Given the description of an element on the screen output the (x, y) to click on. 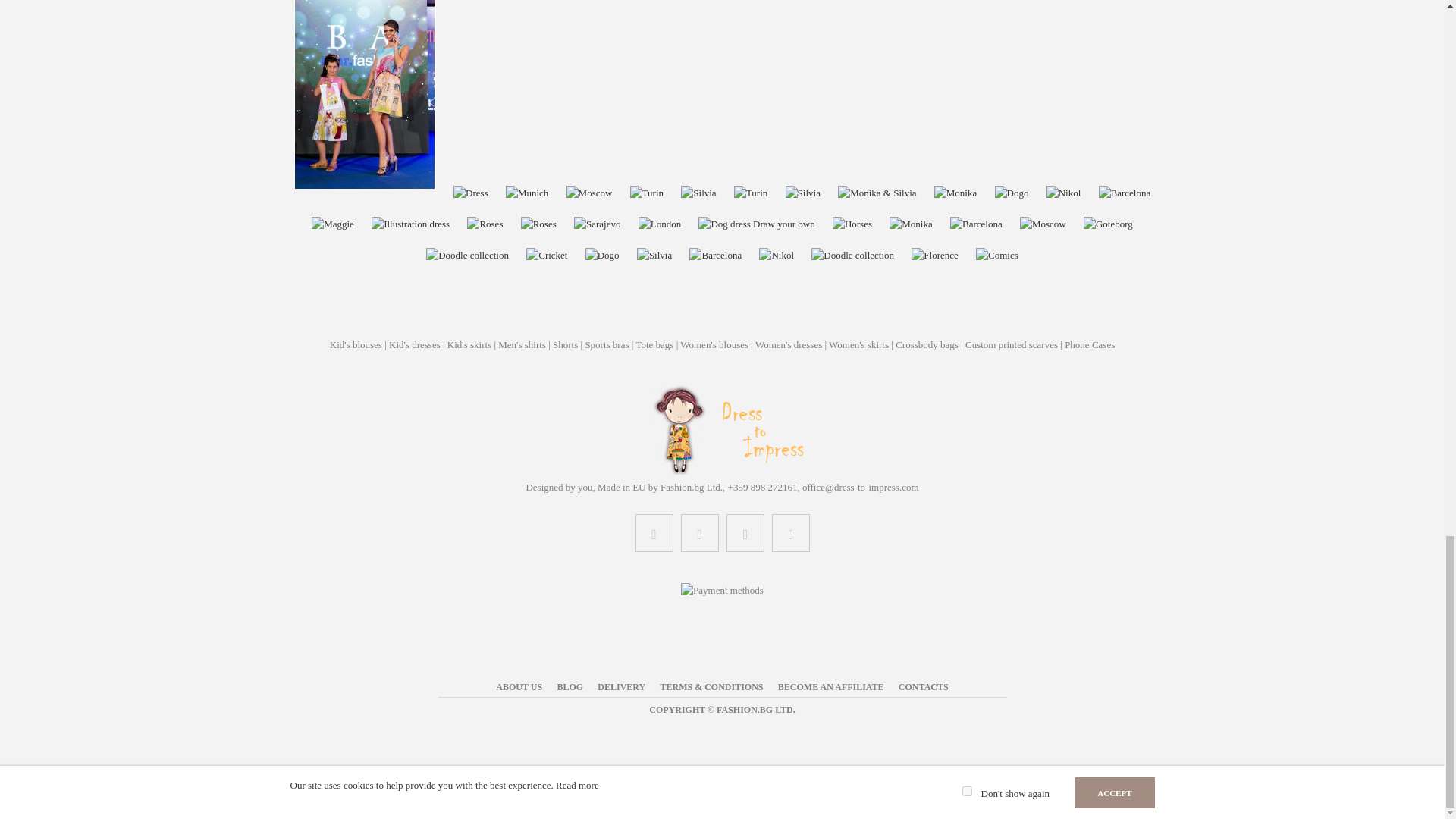
Monika (955, 193)
Dogo (1011, 193)
Roses (538, 224)
Illustration dress (410, 224)
Roses (485, 224)
Munich (526, 193)
Barcelona (1124, 193)
Turin (647, 193)
Turin (750, 193)
Nikol (1064, 193)
Dress (470, 193)
Maggie (332, 224)
Silvia (697, 193)
Kids drawing dresses (365, 193)
Silvia (802, 193)
